Given the description of an element on the screen output the (x, y) to click on. 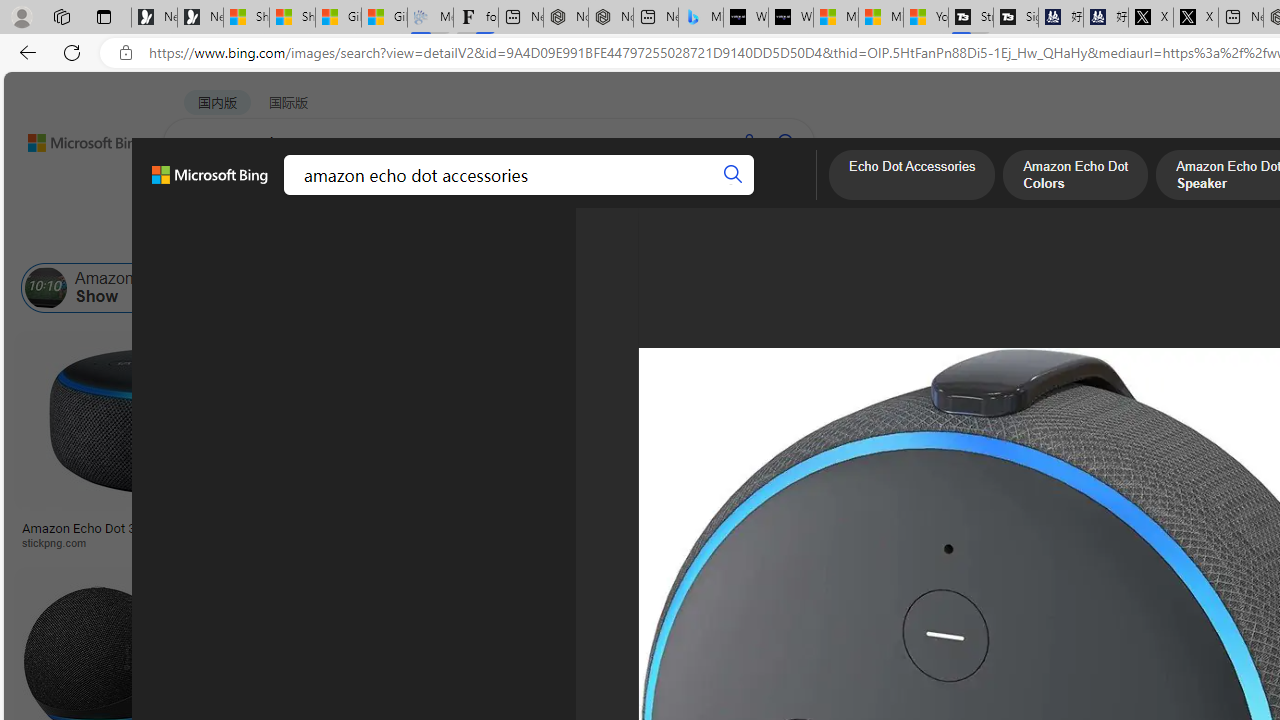
Date (591, 237)
FrAndroid (758, 541)
Layout (443, 237)
Amazon Echo Dot 3rd (651, 287)
WEB (201, 195)
stickpng.com (1149, 541)
